Given the description of an element on the screen output the (x, y) to click on. 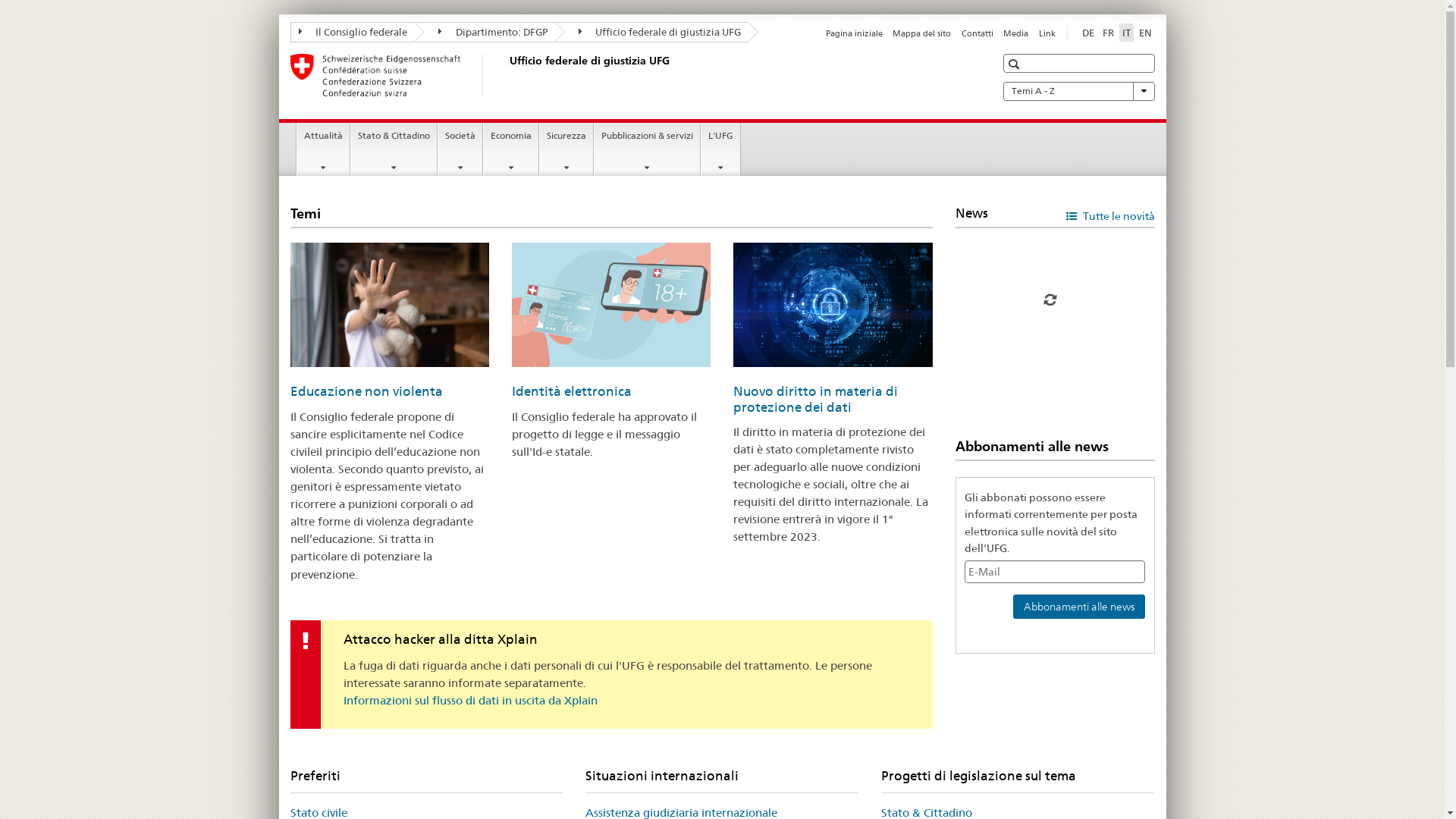
FR Element type: text (1108, 32)
Pubblicazioni & servizi Element type: text (646, 148)
EN Element type: text (1144, 32)
Ufficio federale di giustizia UFG Element type: text (652, 31)
Abbonamenti alle news Element type: text (1079, 606)
L'UFG Element type: text (720, 148)
Ufficio federale di giustizia UFG Element type: text (505, 74)
Nuovo diritto in materia di protezione dei dati Element type: text (815, 398)
Stato & Cittadino Element type: text (393, 148)
Contatti Element type: text (977, 33)
Dipartimento: DFGP Element type: text (484, 31)
Informazioni sul flusso di dati in uscita da Xplain Element type: text (469, 700)
DE Element type: text (1087, 32)
Economia Element type: text (510, 148)
Temi A - Z Element type: text (1078, 90)
Mappa del sito Element type: text (921, 33)
Educazione non violenta Element type: text (365, 390)
Pagina iniziale Element type: text (853, 33)
Media Element type: text (1015, 33)
IT Element type: text (1126, 32)
Il Consiglio federale Element type: text (351, 31)
Link Element type: text (1046, 33)
Sicurezza Element type: text (566, 148)
